Given the description of an element on the screen output the (x, y) to click on. 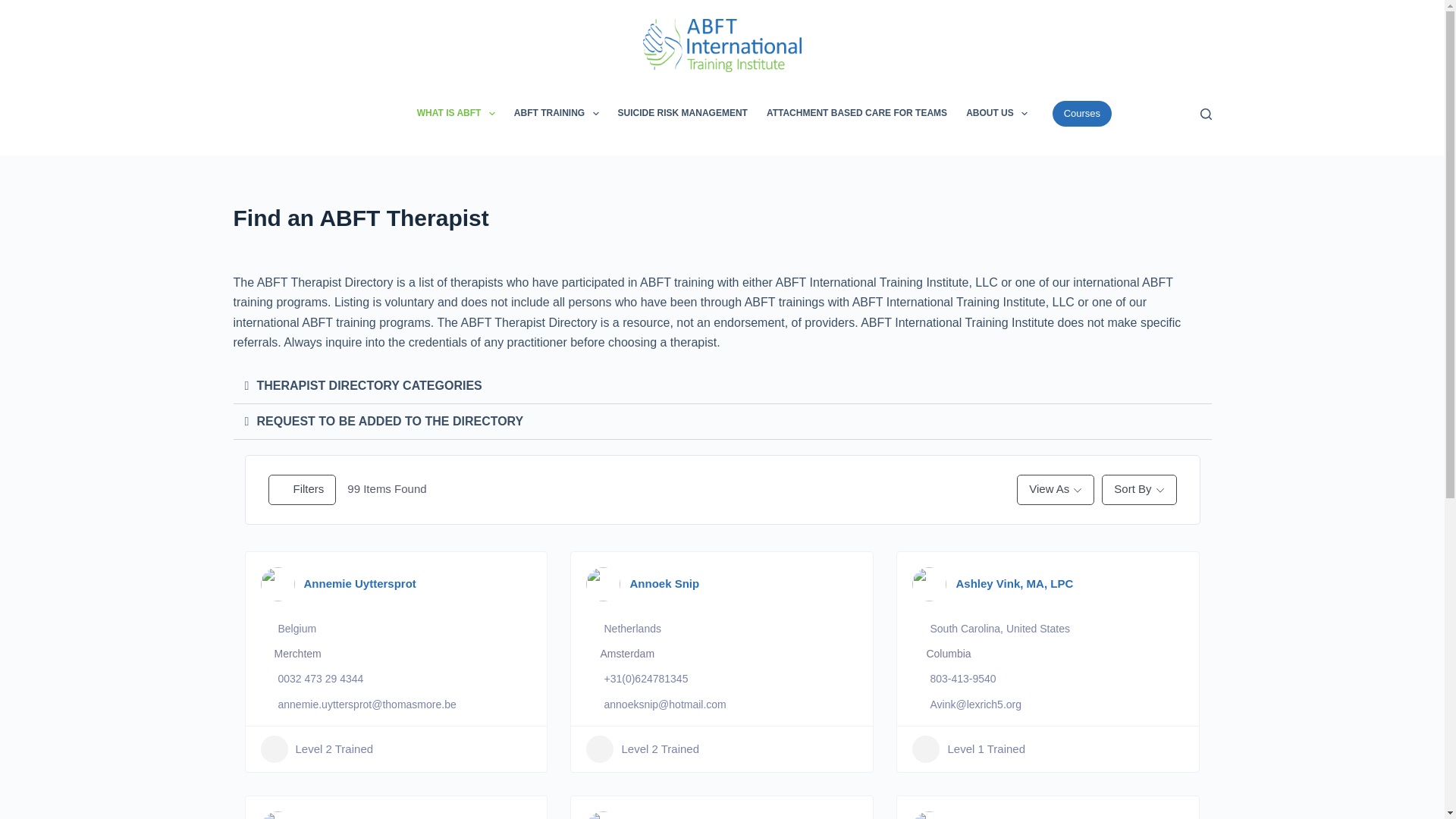
WHAT IS ABFT (455, 113)
Skip to content (15, 7)
ABFT TRAINING (555, 113)
Find an ABFT Therapist (721, 217)
